Given the description of an element on the screen output the (x, y) to click on. 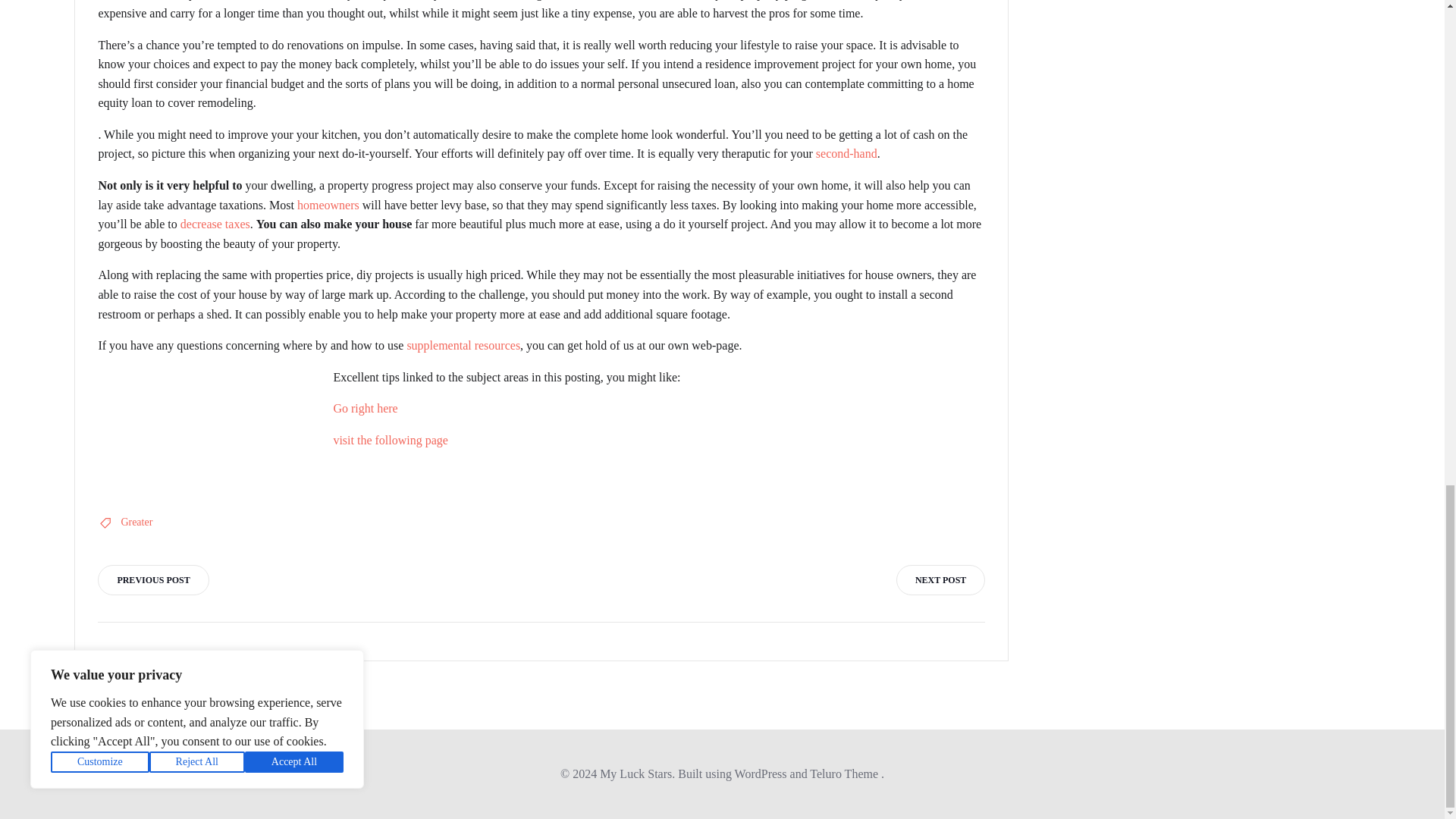
decrease taxes (215, 223)
second-hand (846, 153)
visit the following page (390, 440)
PREVIOUS POST (152, 580)
homeowners (328, 205)
Go right here (365, 408)
Tag: Greater (136, 522)
supplemental resources (462, 345)
NEXT POST (940, 580)
Greater (136, 522)
